Given the description of an element on the screen output the (x, y) to click on. 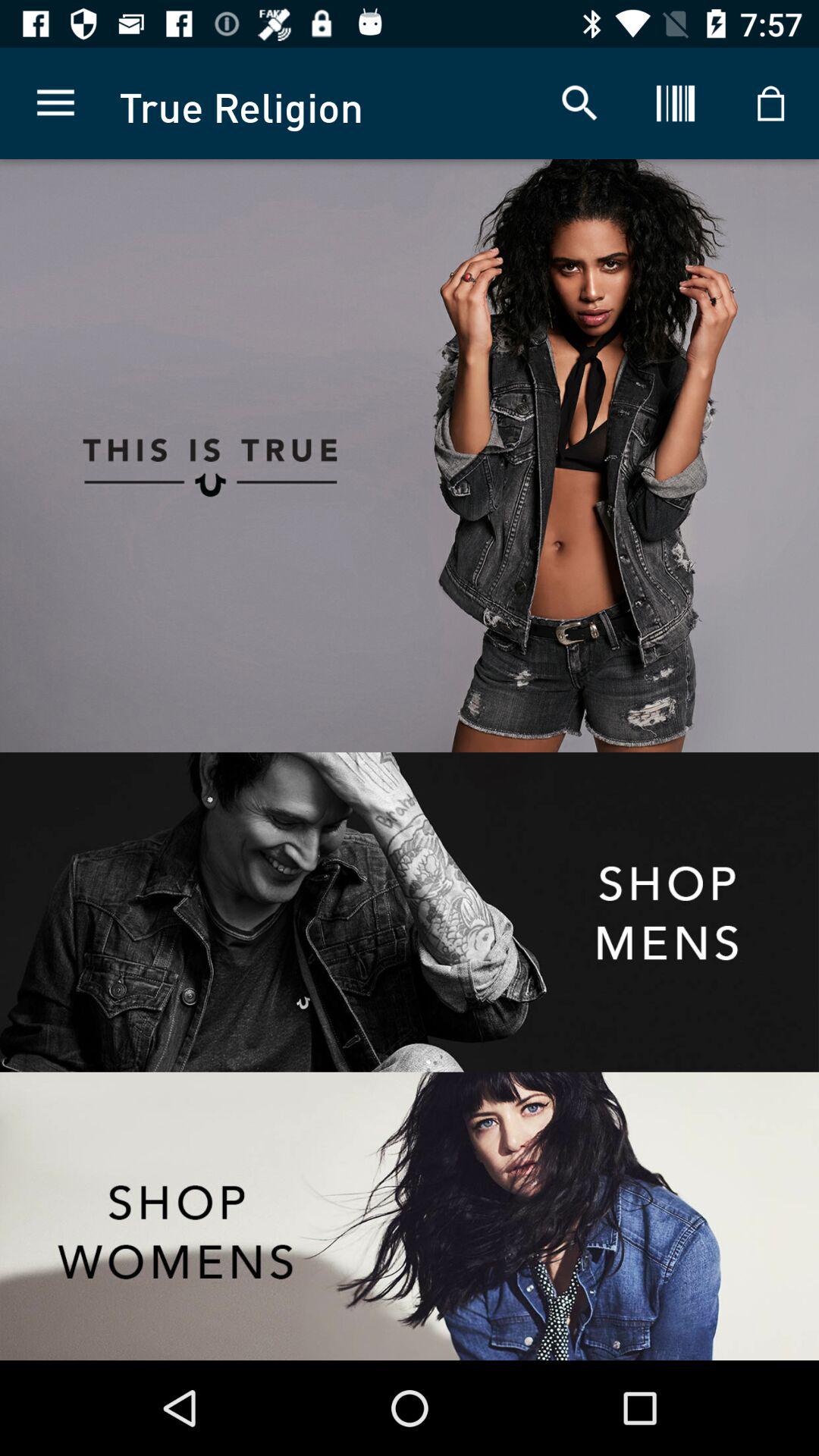
shop mens (409, 912)
